Given the description of an element on the screen output the (x, y) to click on. 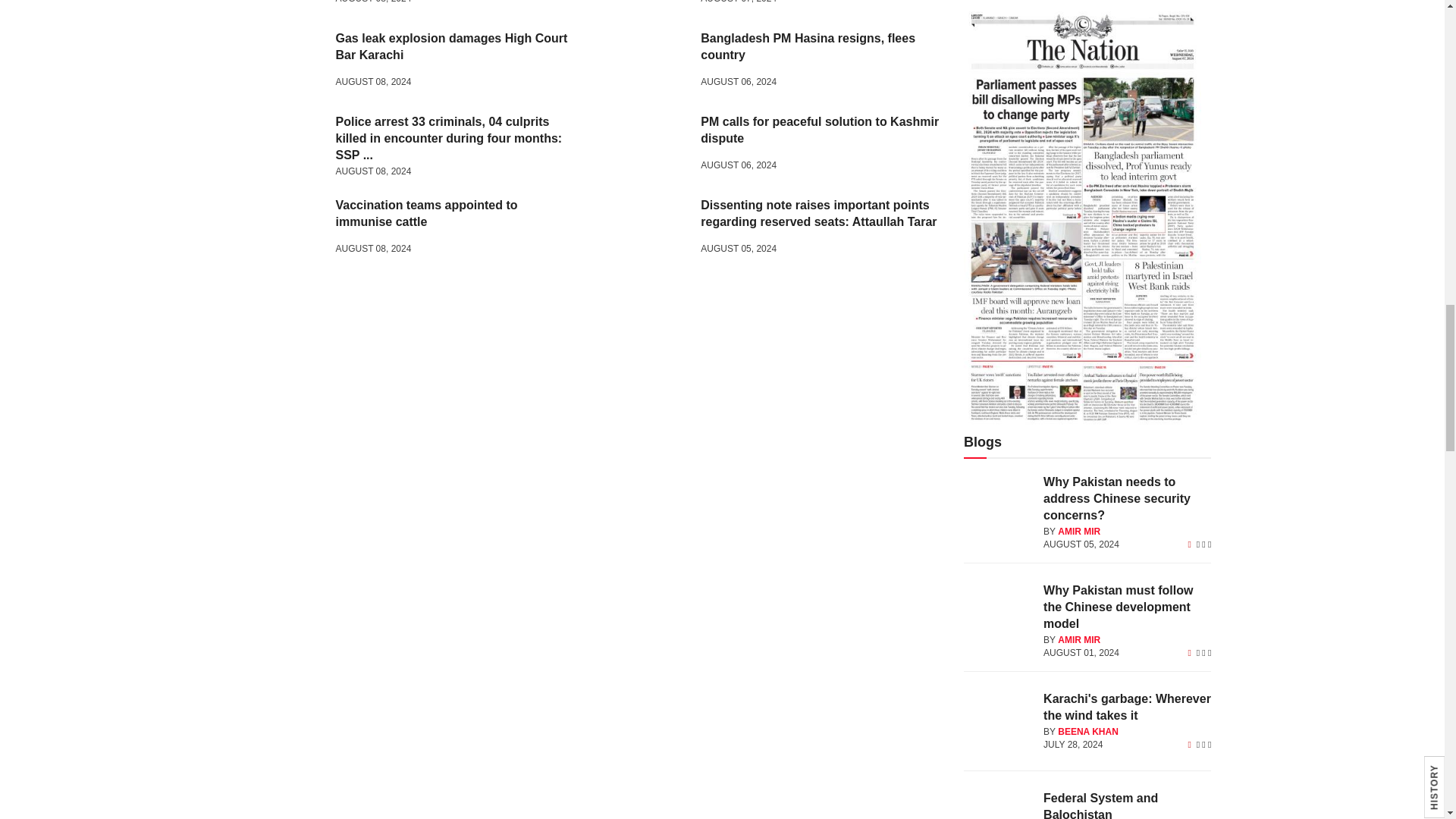
8 Palestinian martyred in Israel West Bank raids (643, 5)
Gas leak explosion damages High Court Bar Karachi (278, 62)
PM calls for peaceful solution to Kashmir dispute (643, 145)
Vaccination teams appointed to immunise cattle (278, 229)
Bangladesh PM Hasina resigns, flees country (643, 62)
